Given the description of an element on the screen output the (x, y) to click on. 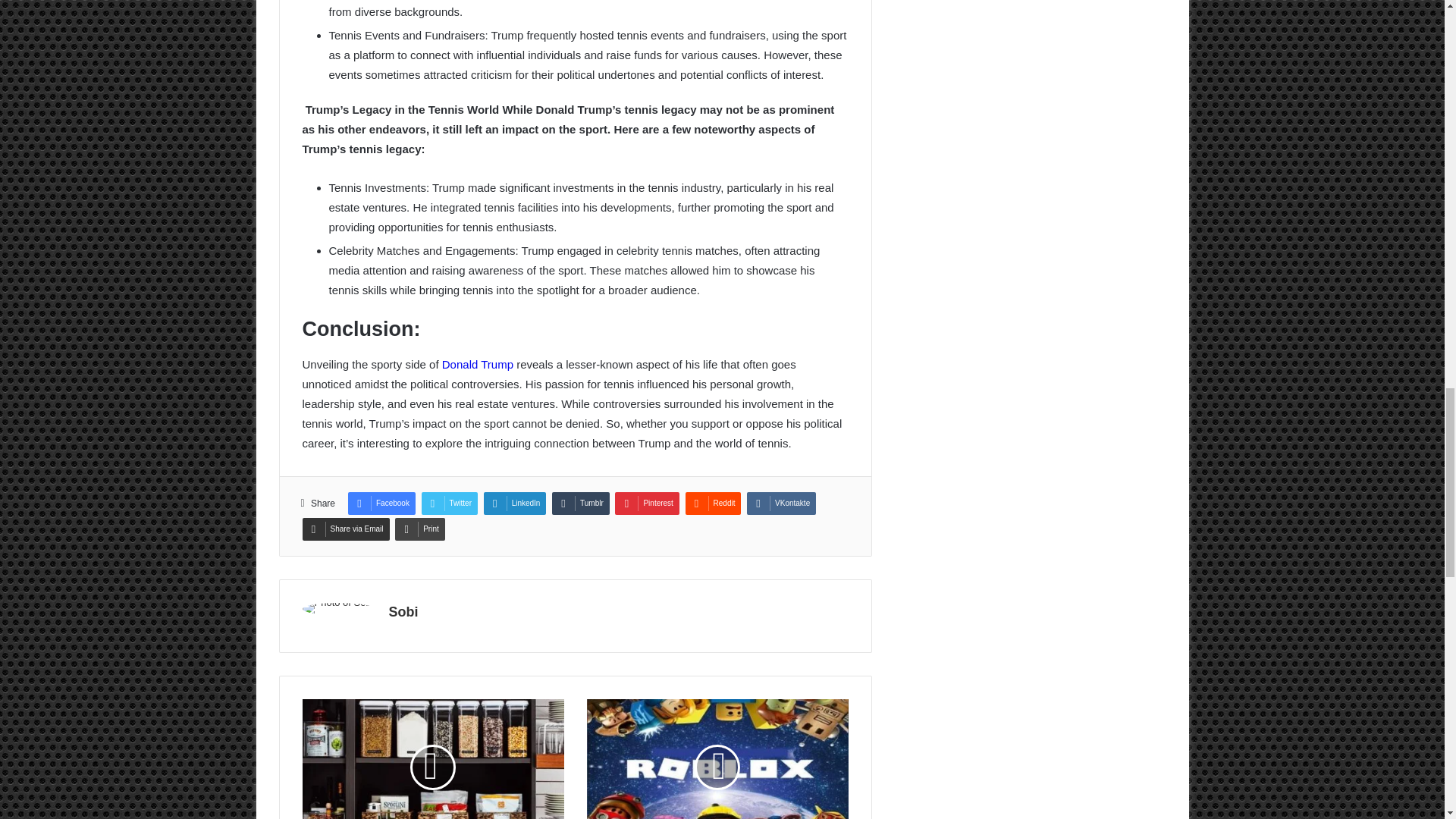
Donald Trump (476, 364)
Facebook (380, 503)
Twitter (449, 503)
LinkedIn (515, 503)
